Given the description of an element on the screen output the (x, y) to click on. 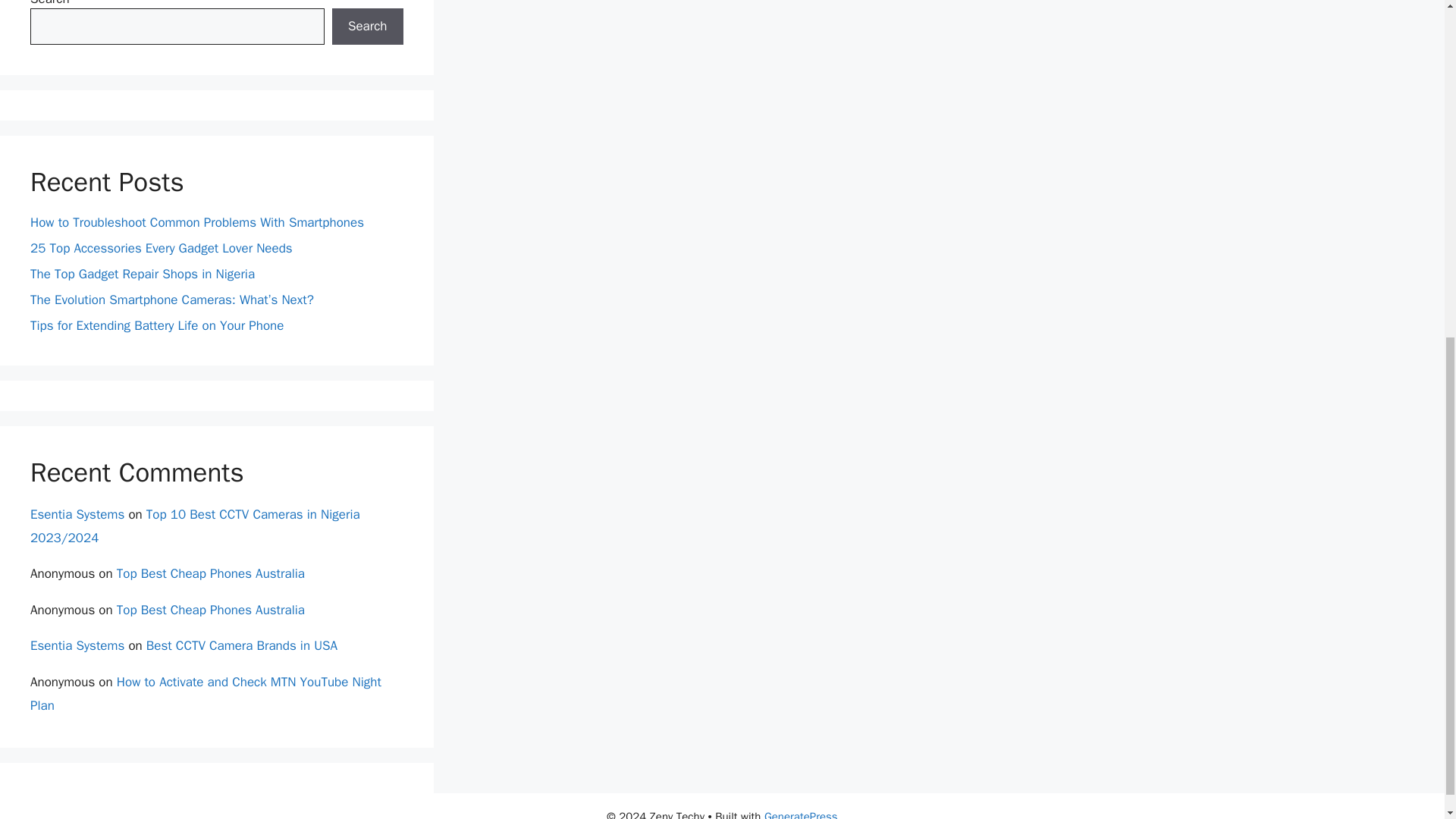
Search (367, 26)
How to Activate and Check MTN YouTube Night Plan (205, 693)
Esentia Systems (76, 645)
25 Top Accessories Every Gadget Lover Needs (161, 248)
Best CCTV Camera Brands in USA (242, 645)
Esentia Systems (76, 514)
Top Best Cheap Phones Australia (210, 573)
Top Best Cheap Phones Australia (210, 609)
How to Troubleshoot Common Problems With Smartphones  (199, 222)
The Top Gadget Repair Shops in Nigeria (142, 273)
